Given the description of an element on the screen output the (x, y) to click on. 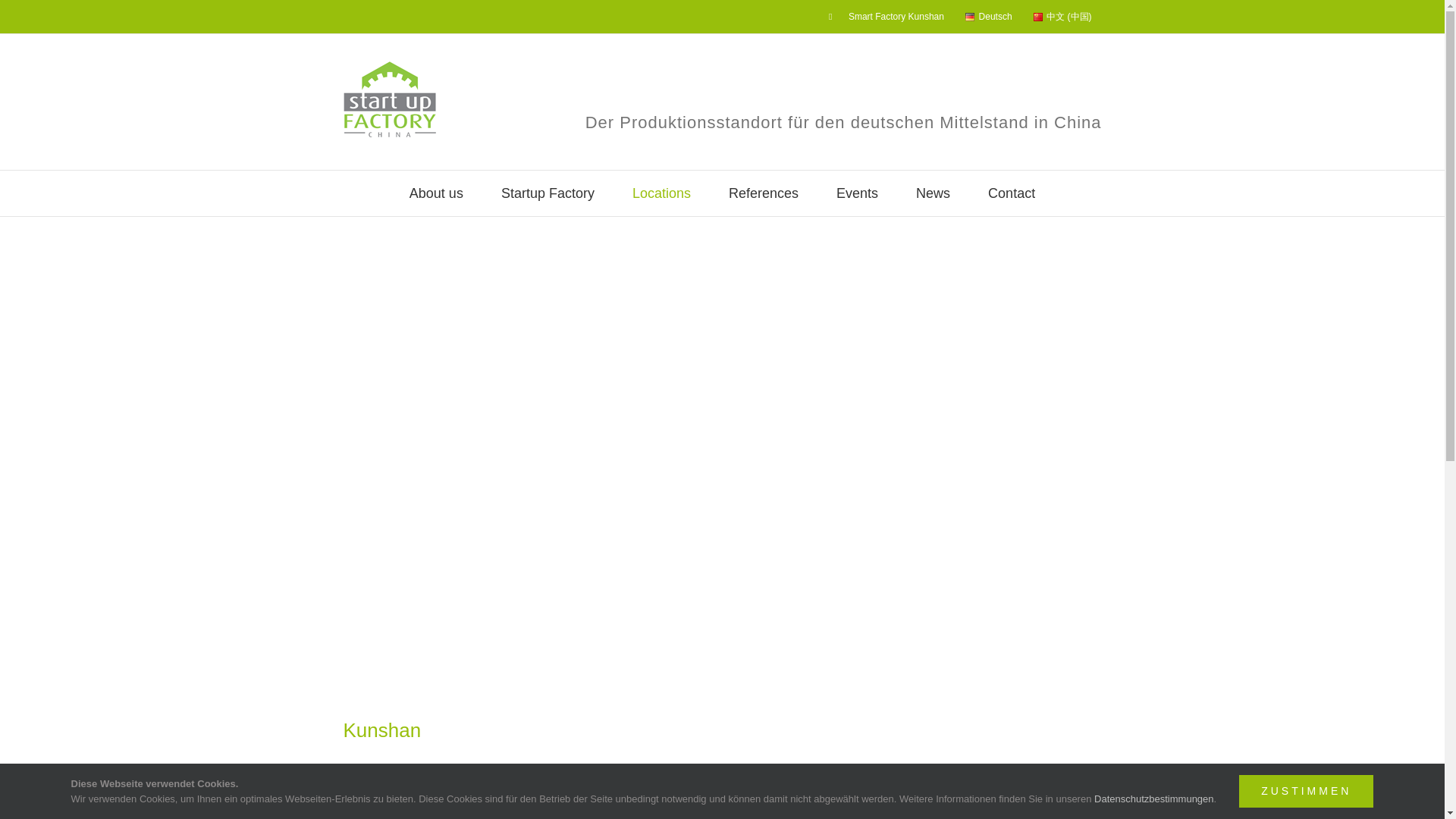
Startup Factory (547, 193)
Deutsch (987, 16)
References (763, 193)
Events (856, 193)
About us (436, 193)
Locations (660, 193)
Smart Factory Kunshan (885, 16)
Contact (1011, 193)
